Given the description of an element on the screen output the (x, y) to click on. 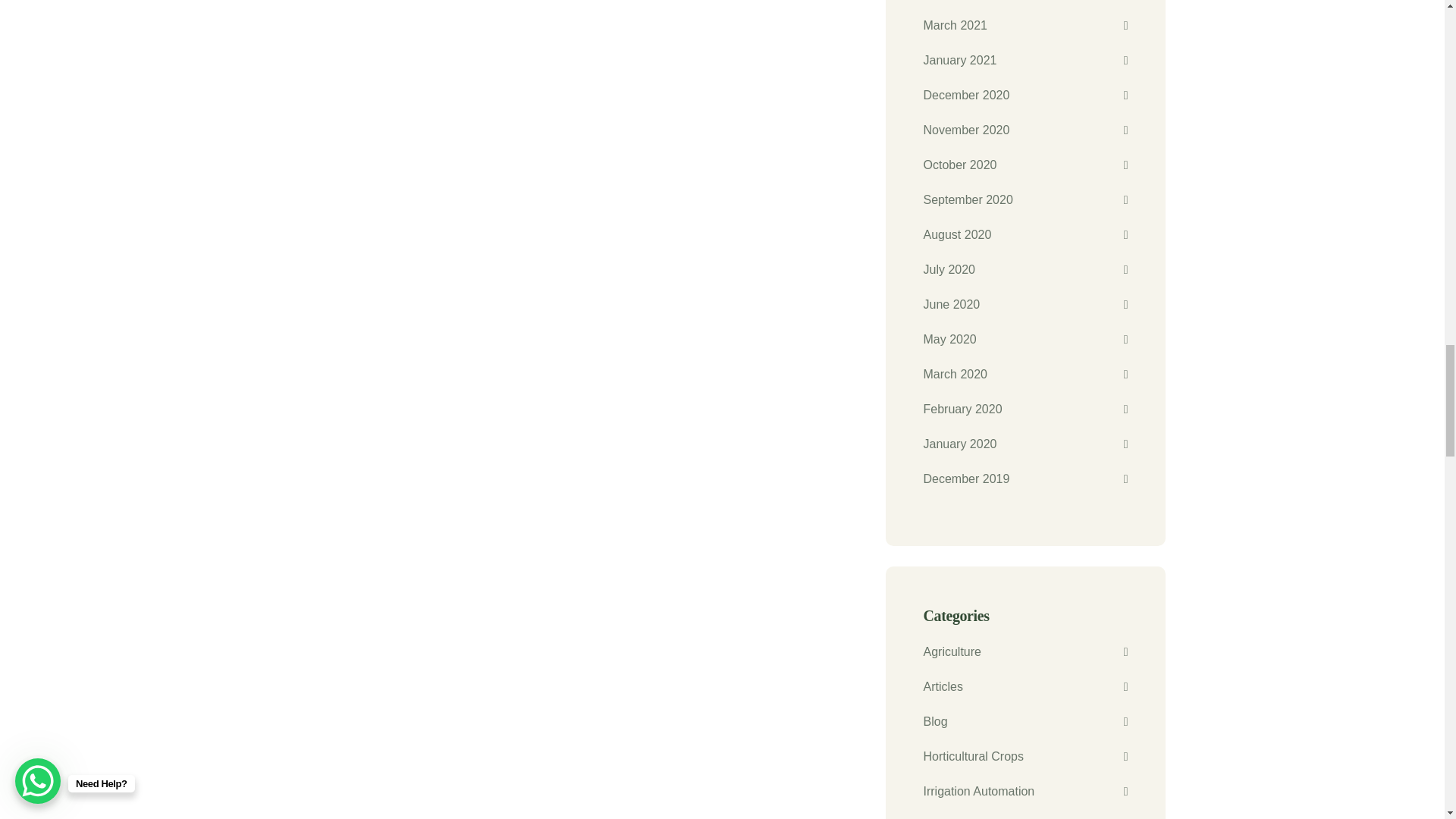
Comment Form (571, 84)
